Given the description of an element on the screen output the (x, y) to click on. 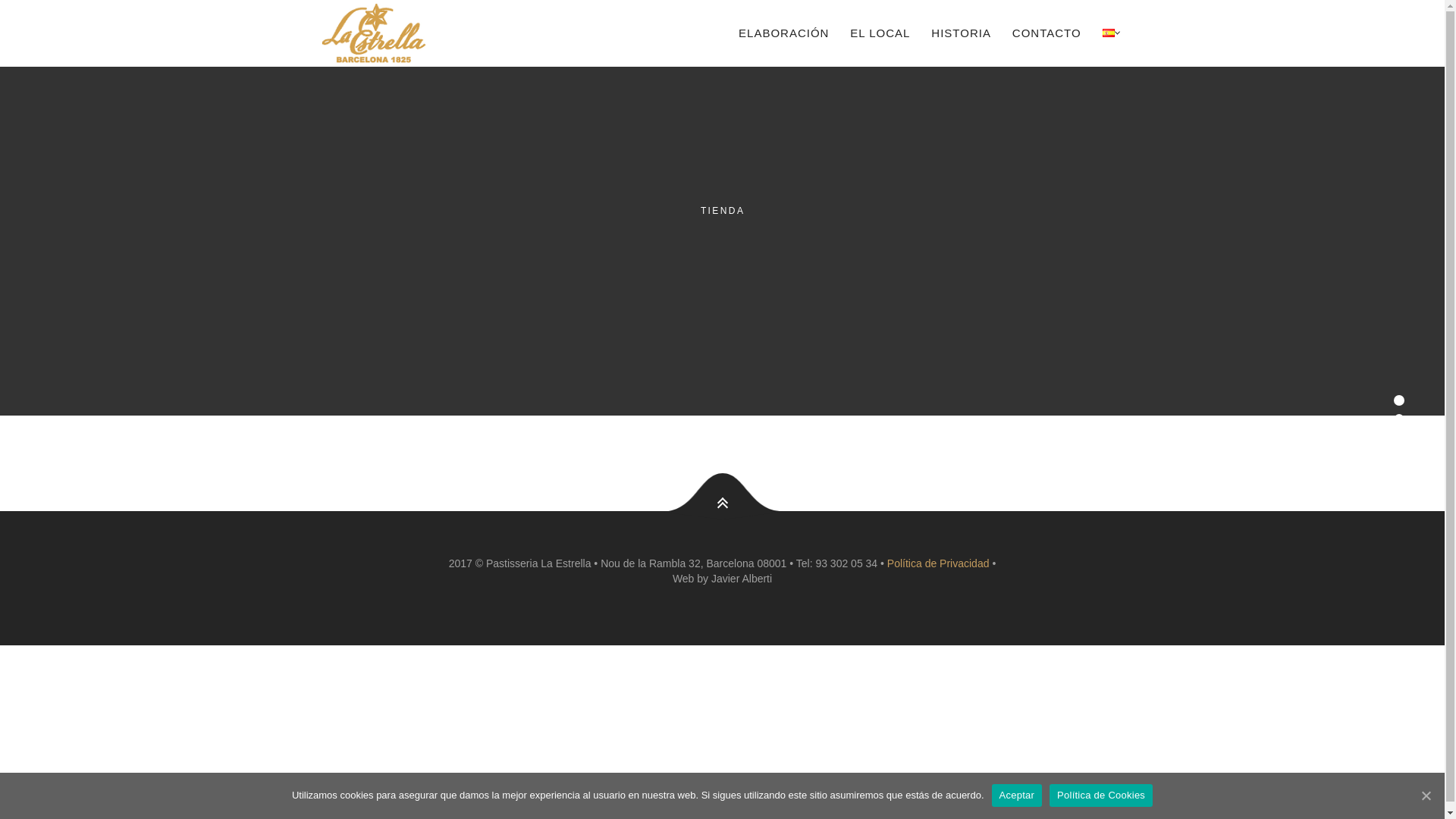
Aceptar Element type: text (1016, 795)
HISTORIA Element type: text (961, 33)
Pastisseria La Estrella Element type: hover (405, 33)
EL LOCAL Element type: text (879, 33)
CONTACTO Element type: text (1046, 33)
